Given the description of an element on the screen output the (x, y) to click on. 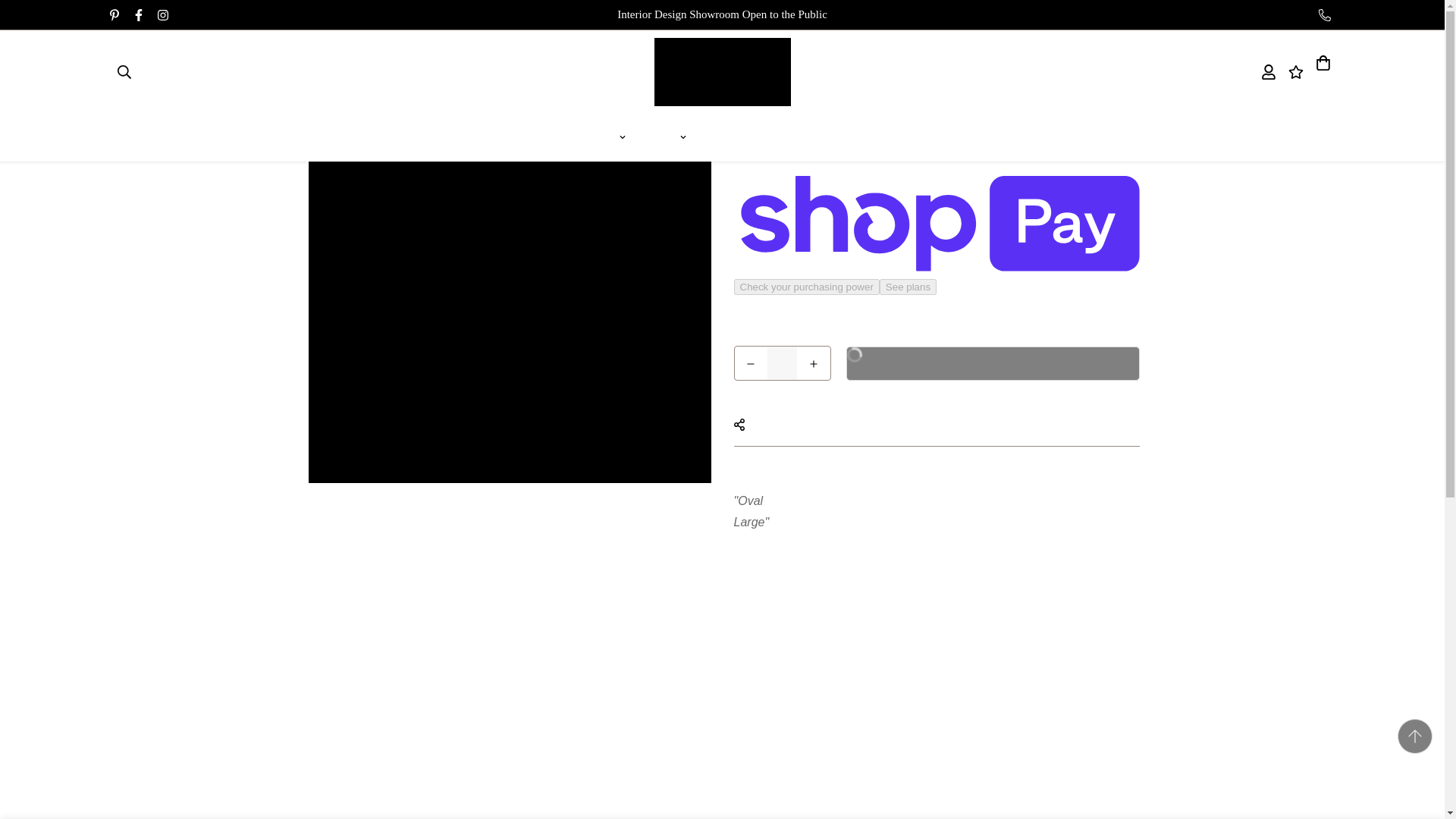
deGuiseInteriors (721, 71)
843-971-1491 (1327, 14)
SHOP (618, 137)
